Given the description of an element on the screen output the (x, y) to click on. 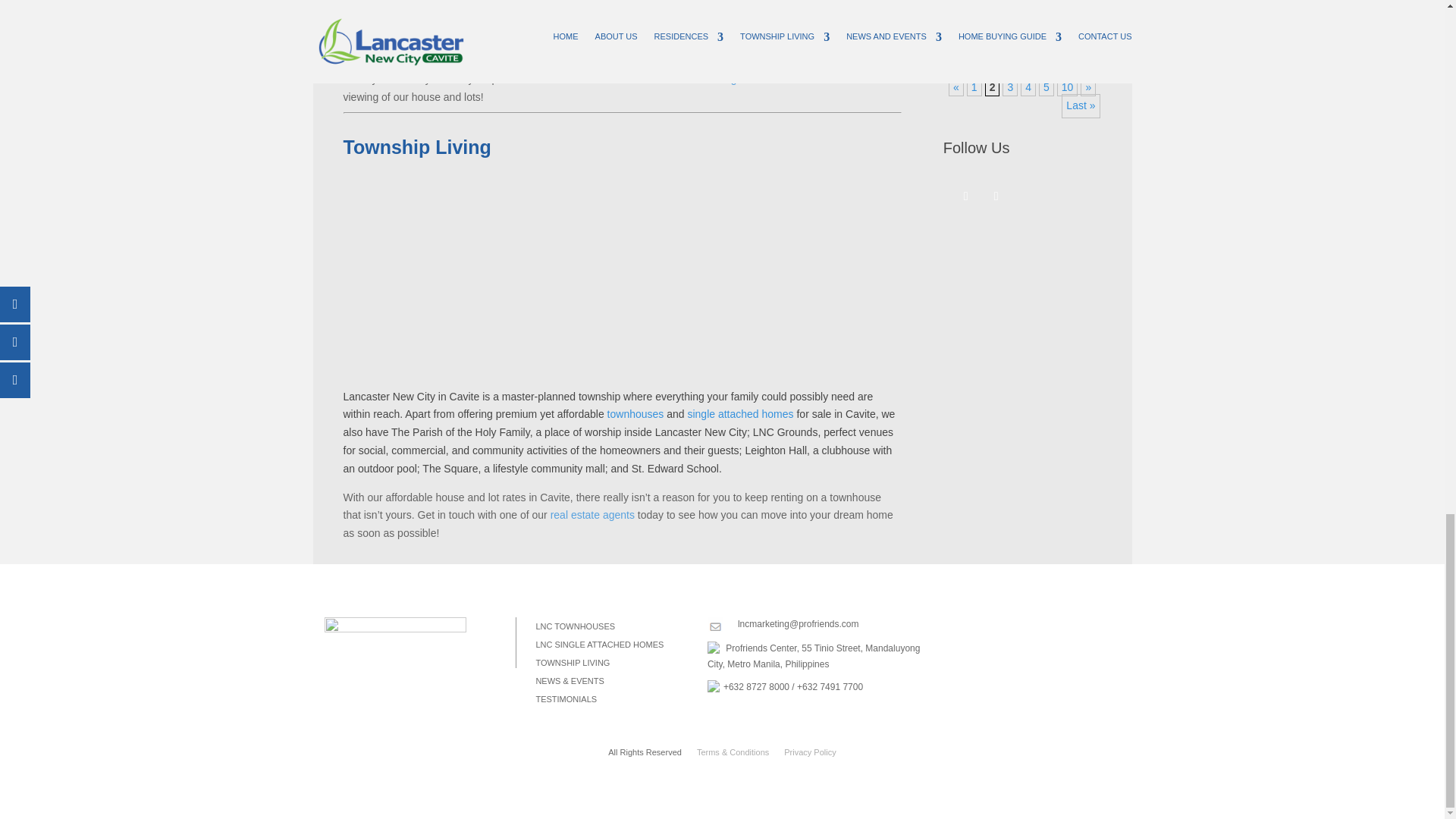
real estate agents in Cavite (737, 78)
Follow on Facebook (965, 196)
Page 10 (1067, 86)
Follow on Youtube (996, 196)
